Given the description of an element on the screen output the (x, y) to click on. 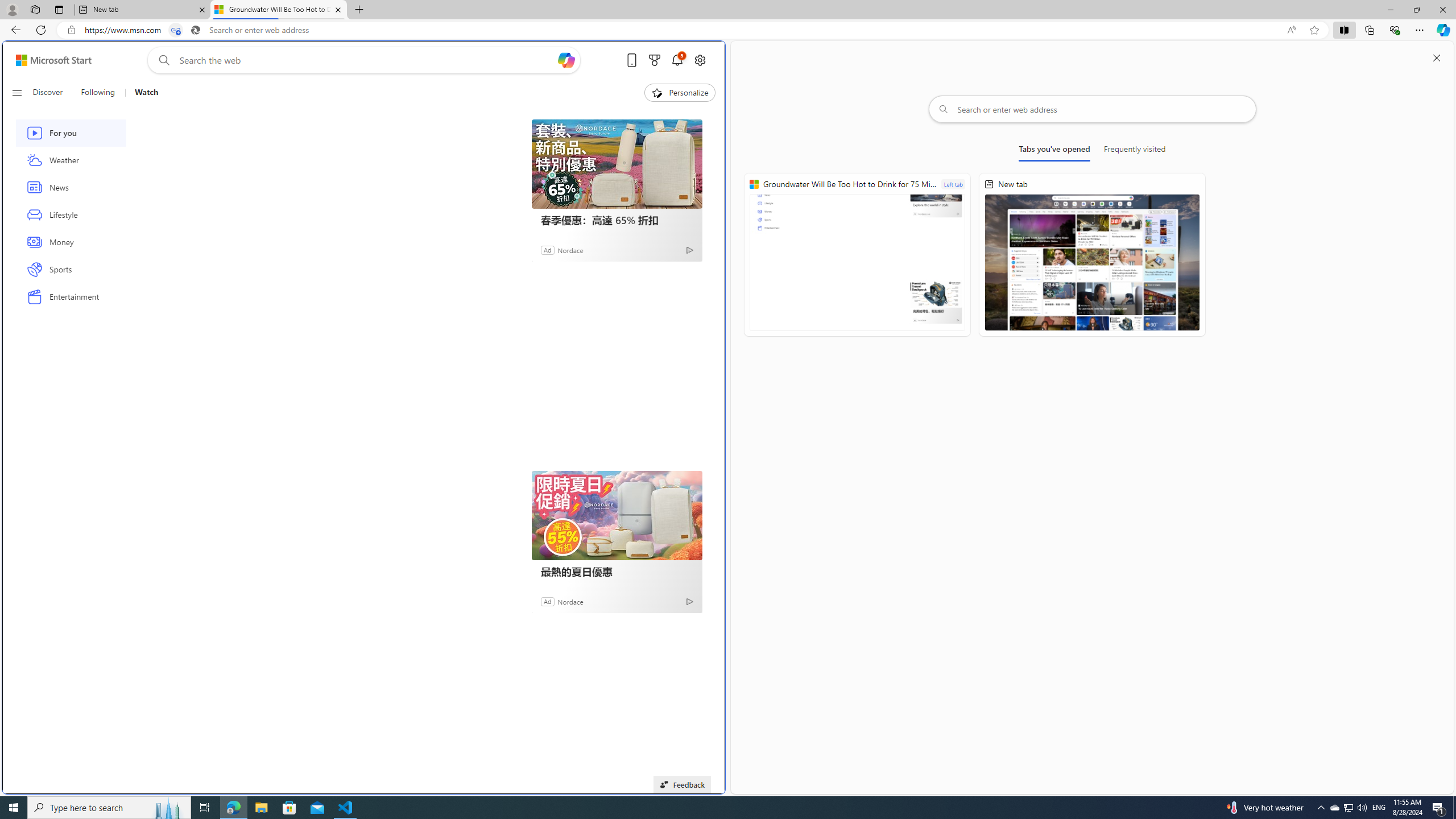
Frequently visited (1134, 151)
Web search (161, 60)
